Given the description of an element on the screen output the (x, y) to click on. 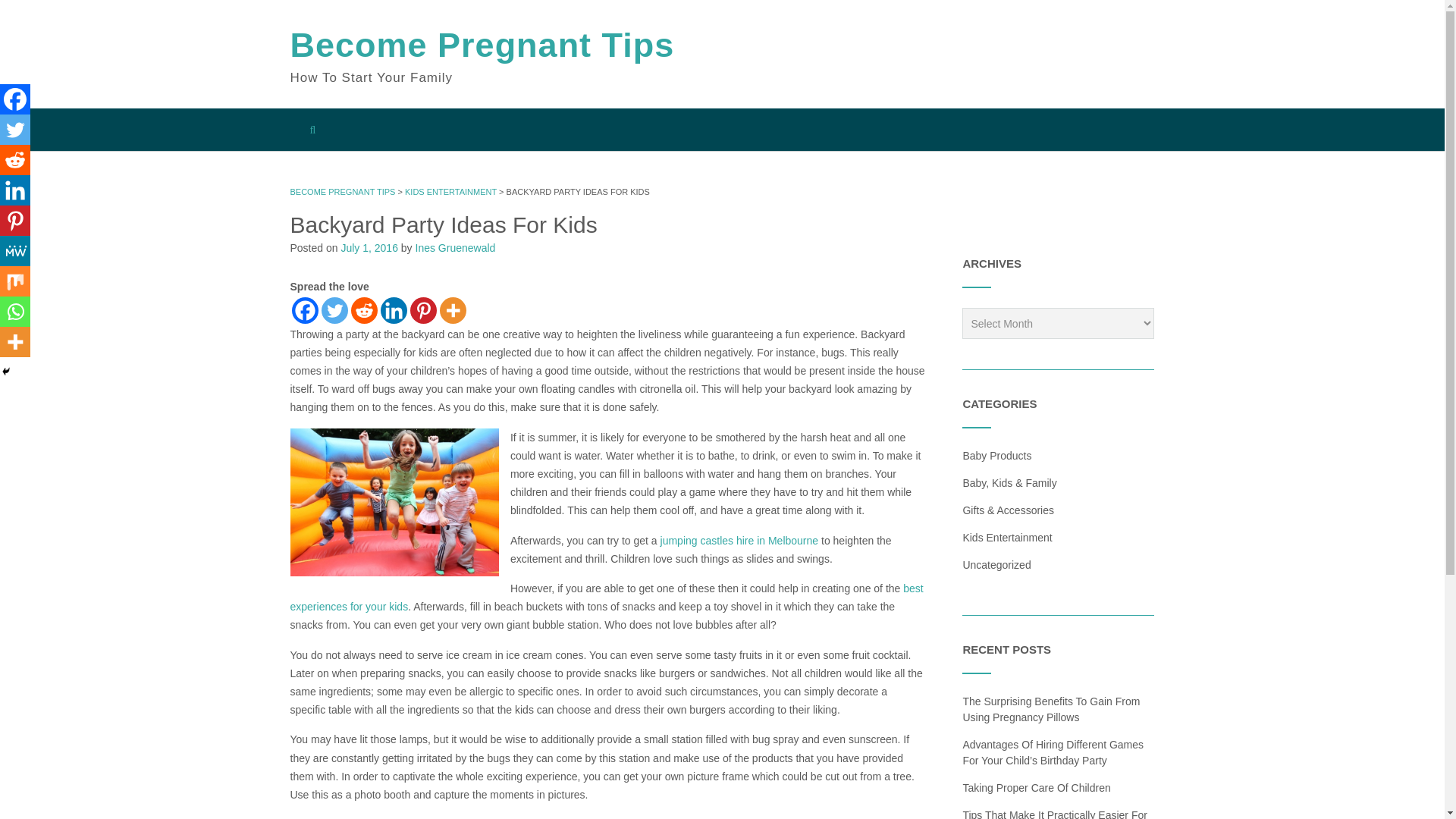
BECOME PREGNANT TIPS (341, 191)
Mix (15, 281)
Pinterest (15, 220)
Linkedin (393, 310)
KIDS ENTERTAINMENT (450, 191)
Go to Become Pregnant Tips. (341, 191)
Reddit (15, 159)
Baby Products (996, 455)
MeWe (15, 250)
jumping castles hire in Melbourne (739, 540)
Uncategorized (996, 564)
Kids Entertainment (1006, 537)
best experiences for your kids (606, 597)
Become Pregnant Tips (481, 45)
The Surprising Benefits To Gain From Using Pregnancy Pillows (1051, 709)
